Given the description of an element on the screen output the (x, y) to click on. 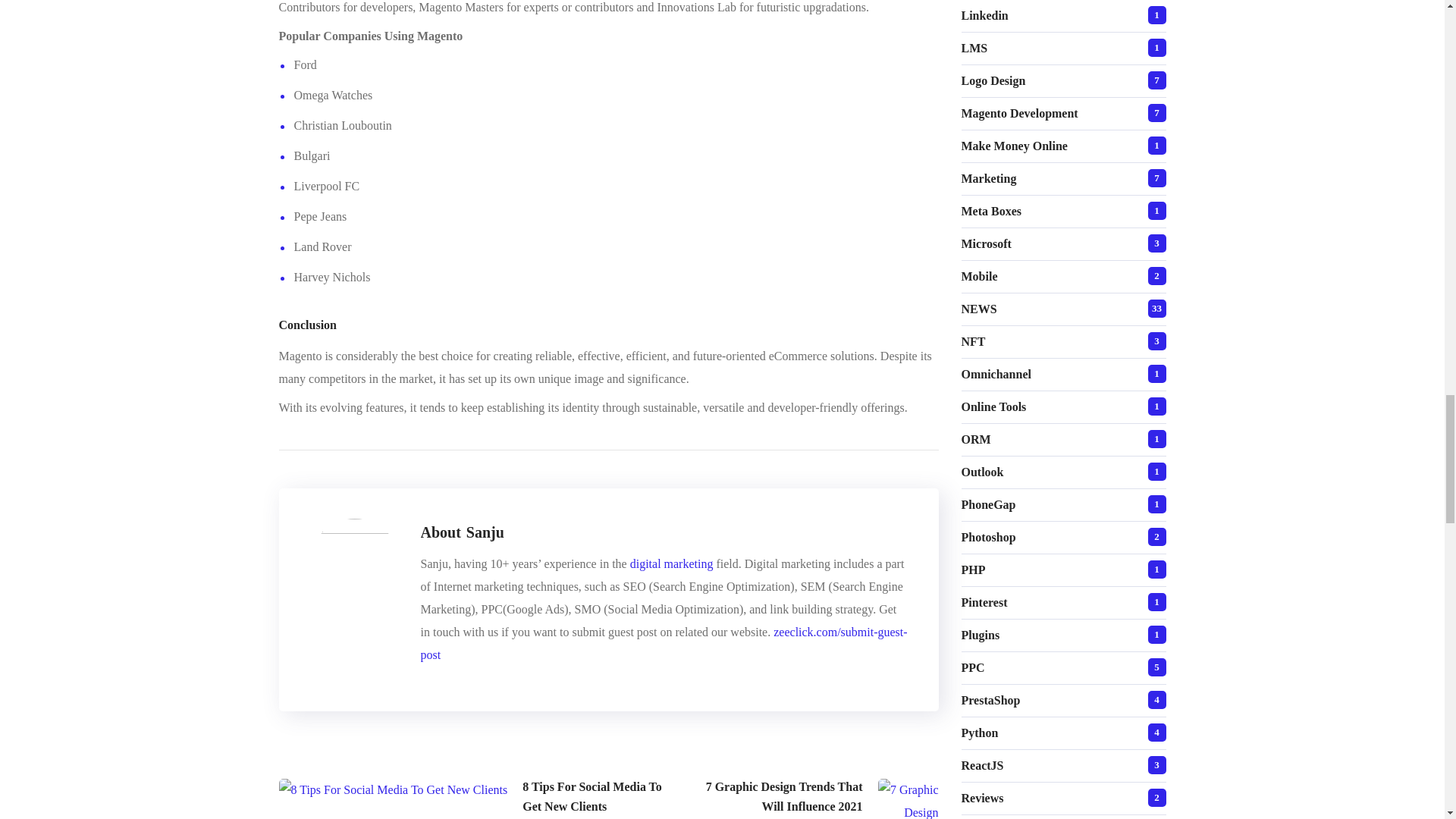
7 Graphic Design Trends That Will Influence 2021 (821, 798)
8 Tips For Social Media To Get New Clients (480, 798)
